Given the description of an element on the screen output the (x, y) to click on. 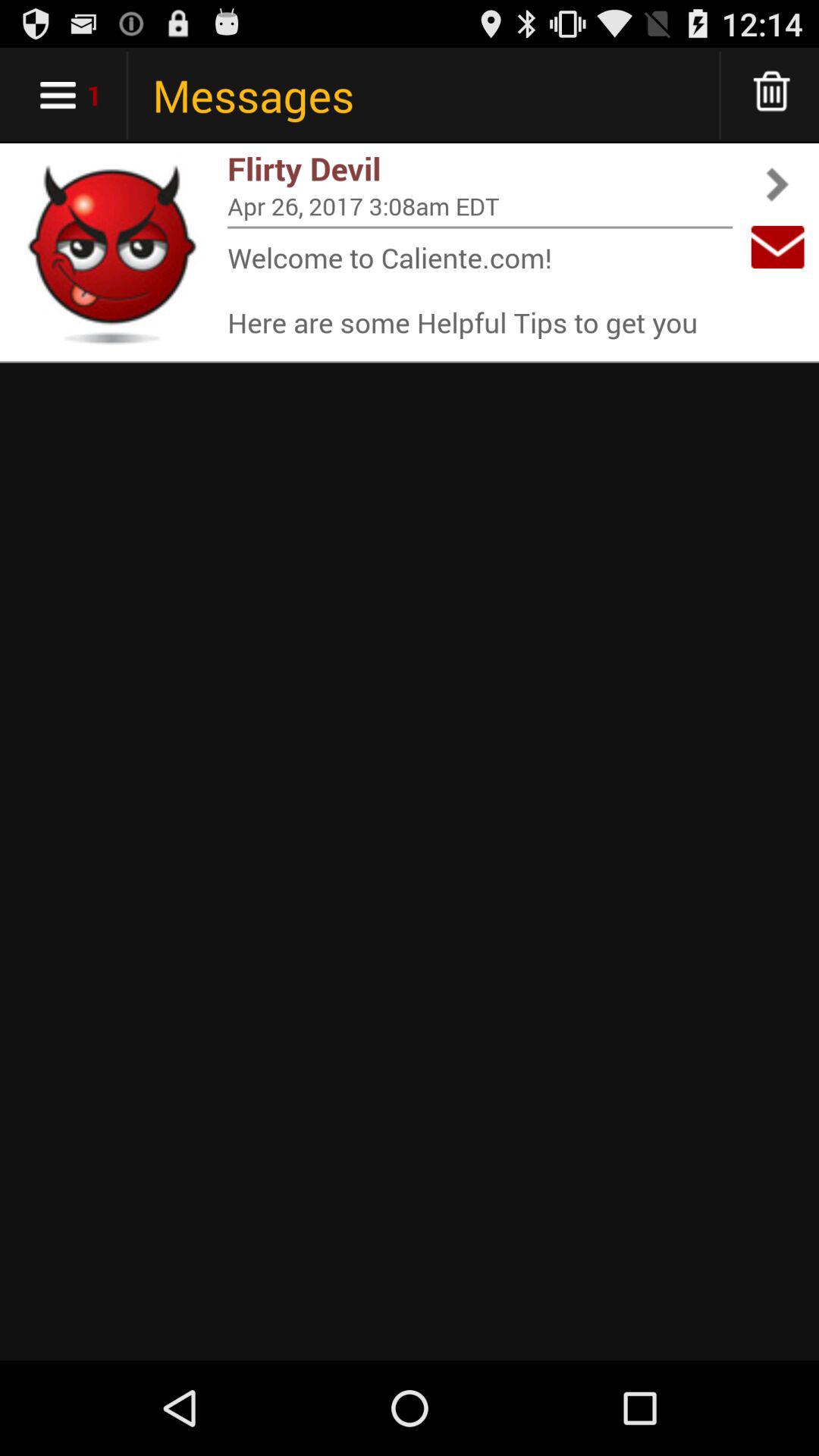
choose item to the right of the apr 26 2017 icon (777, 246)
